Given the description of an element on the screen output the (x, y) to click on. 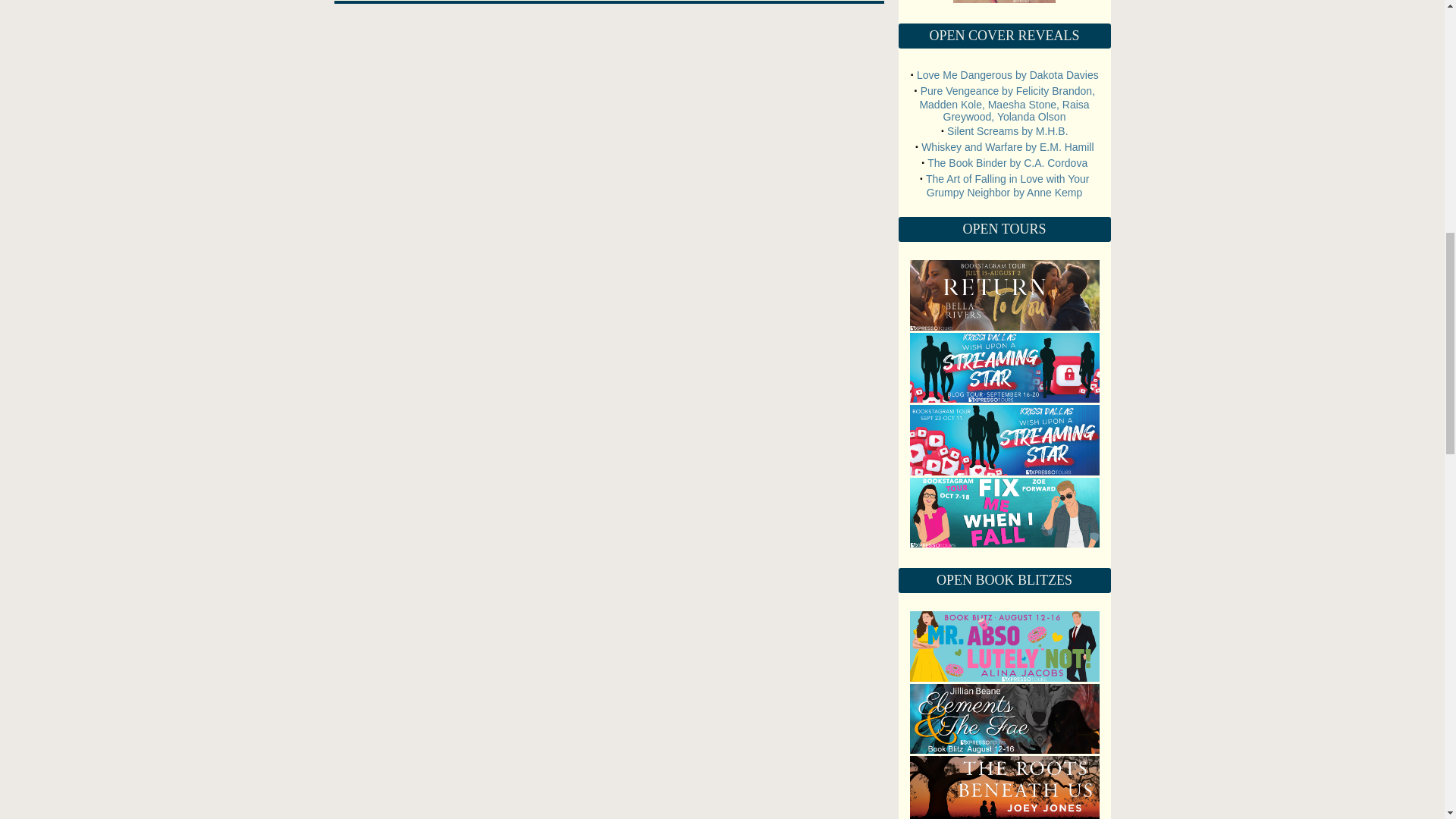
Silent Screams by M.H.B. (1007, 131)
Love Me Dangerous by Dakota Davies (1008, 74)
